Given the description of an element on the screen output the (x, y) to click on. 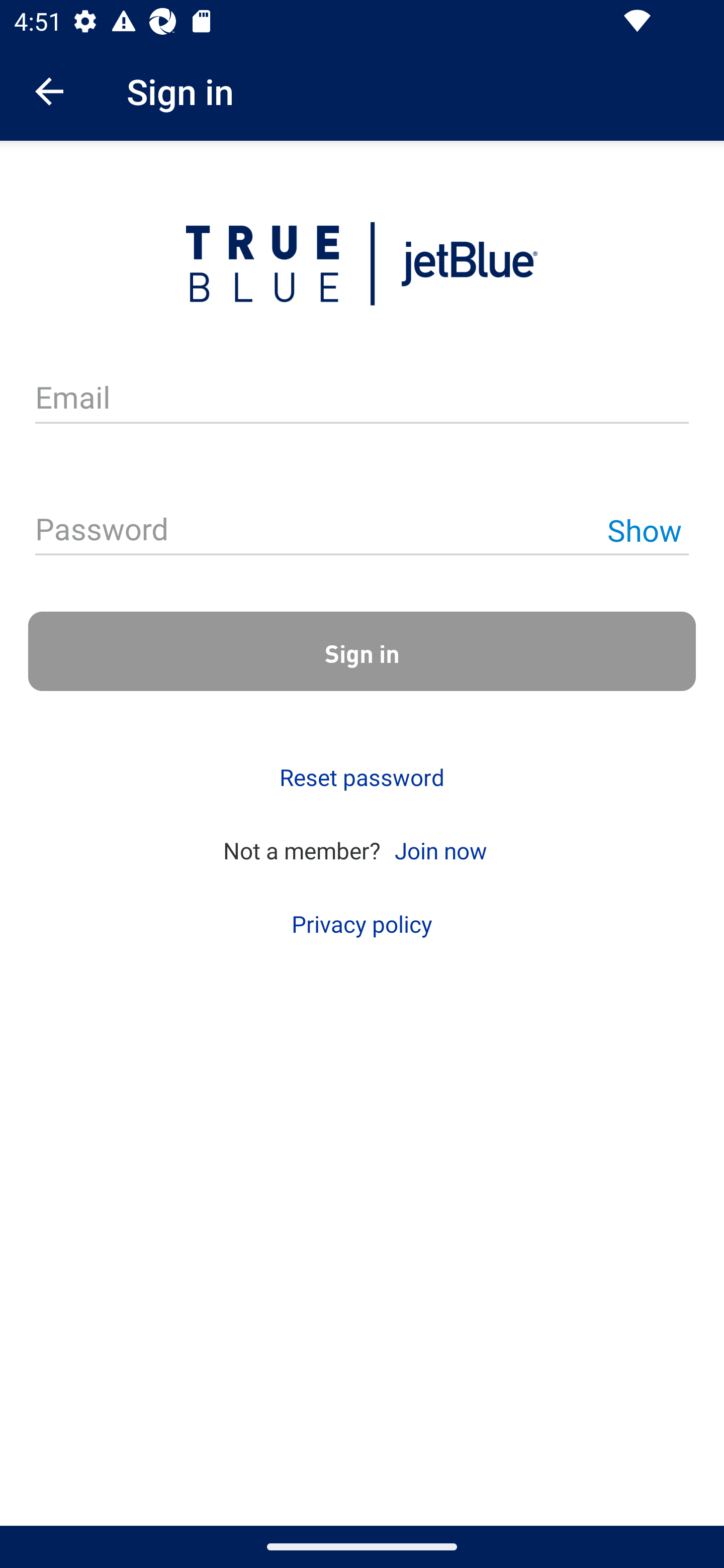
Navigate up (49, 91)
Email (361, 398)
Password (361, 530)
Show (643, 529)
Sign in (361, 651)
Reset password (361, 776)
Join now (440, 849)
Privacy policy (361, 923)
